Given the description of an element on the screen output the (x, y) to click on. 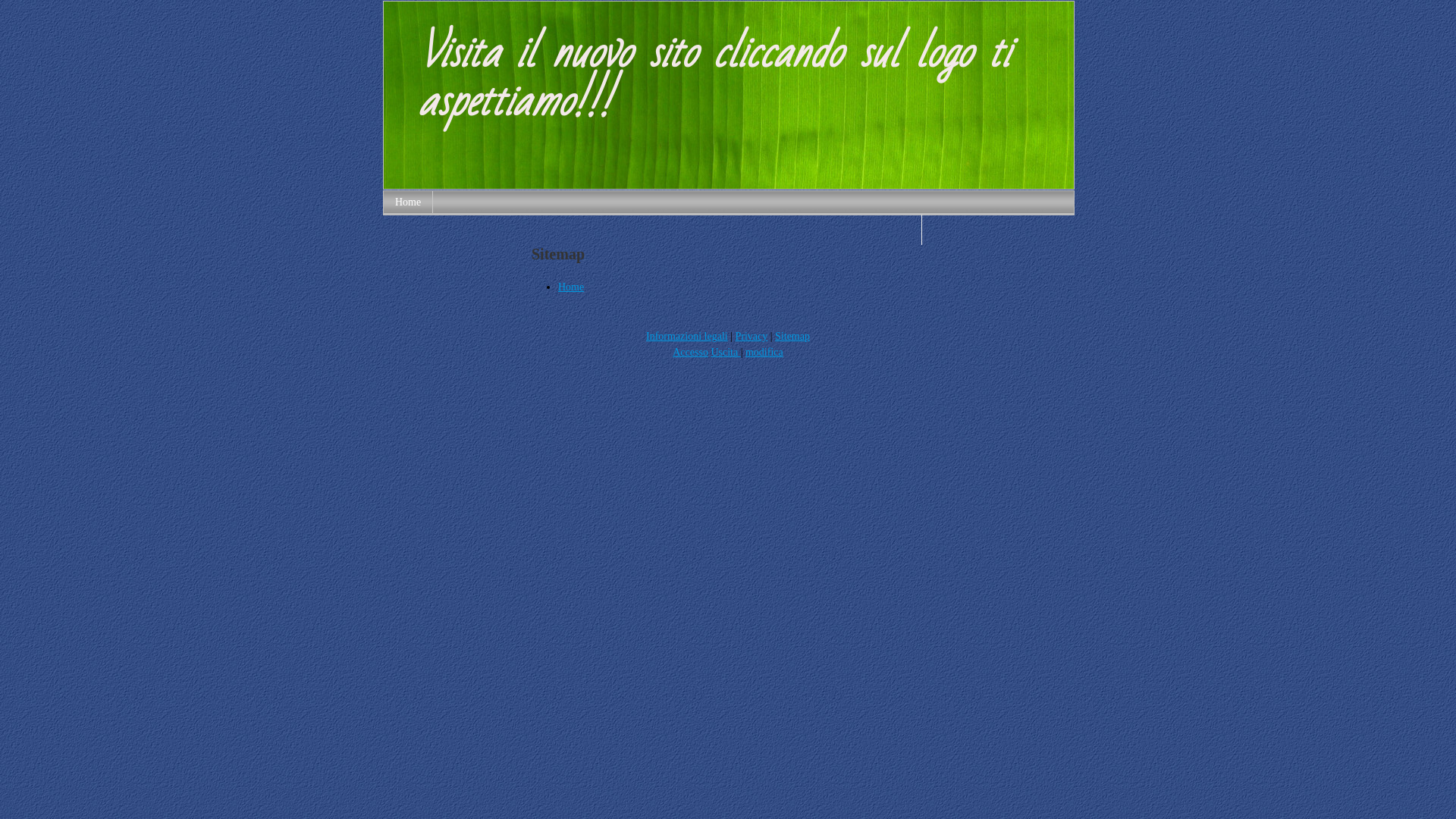
Privacy Element type: text (751, 336)
Accesso Element type: text (690, 351)
Sitemap Element type: text (792, 336)
Uscita Element type: text (725, 351)
Visita il nuovo sito cliccando sul logo ti aspettiamo!!! Element type: text (728, 185)
modifica Element type: text (764, 351)
Home Element type: text (408, 202)
Home Element type: text (570, 286)
Informazioni legali Element type: text (687, 336)
